Given the description of an element on the screen output the (x, y) to click on. 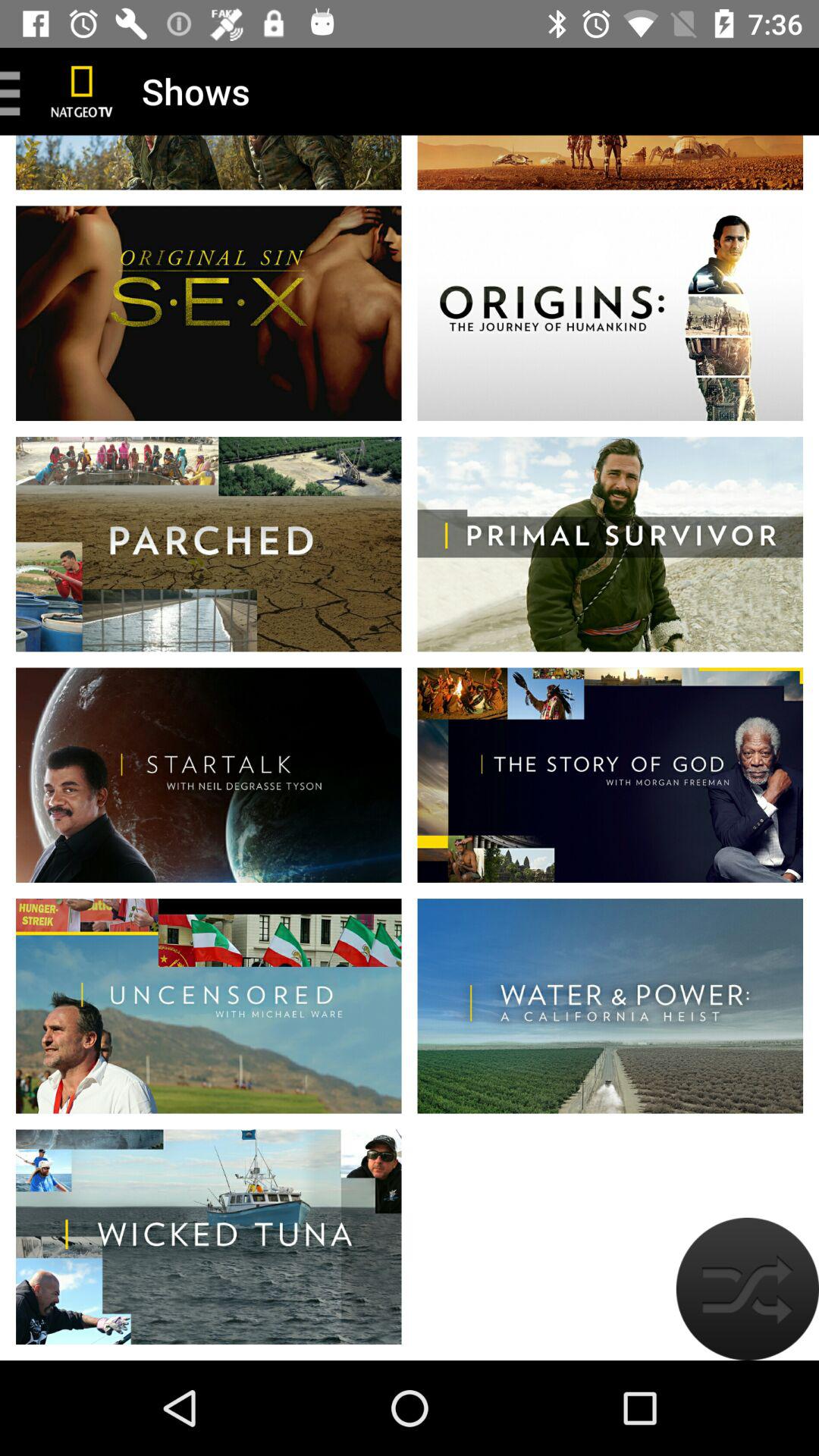
go to menu (15, 91)
